Given the description of an element on the screen output the (x, y) to click on. 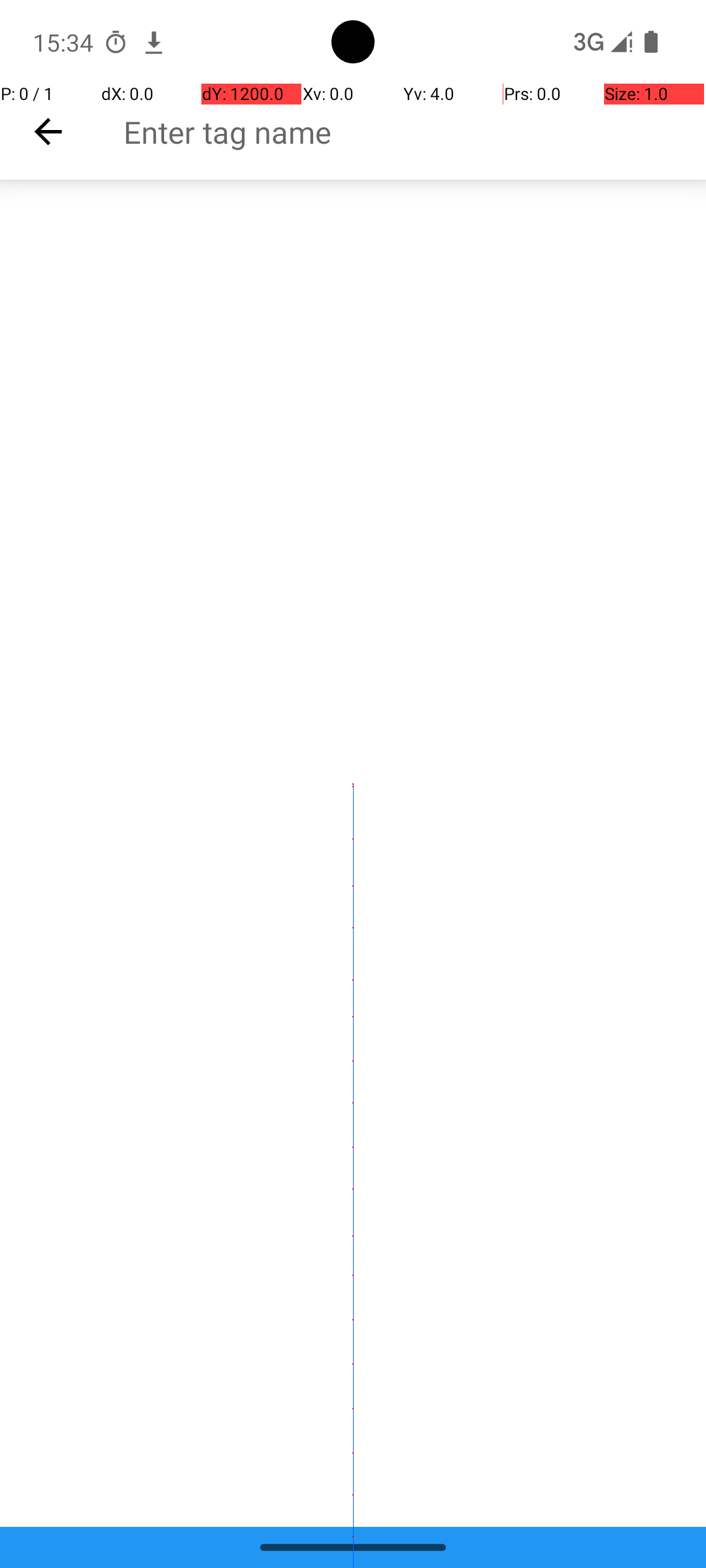
Enter tag name Element type: android.widget.EditText (414, 131)
